Given the description of an element on the screen output the (x, y) to click on. 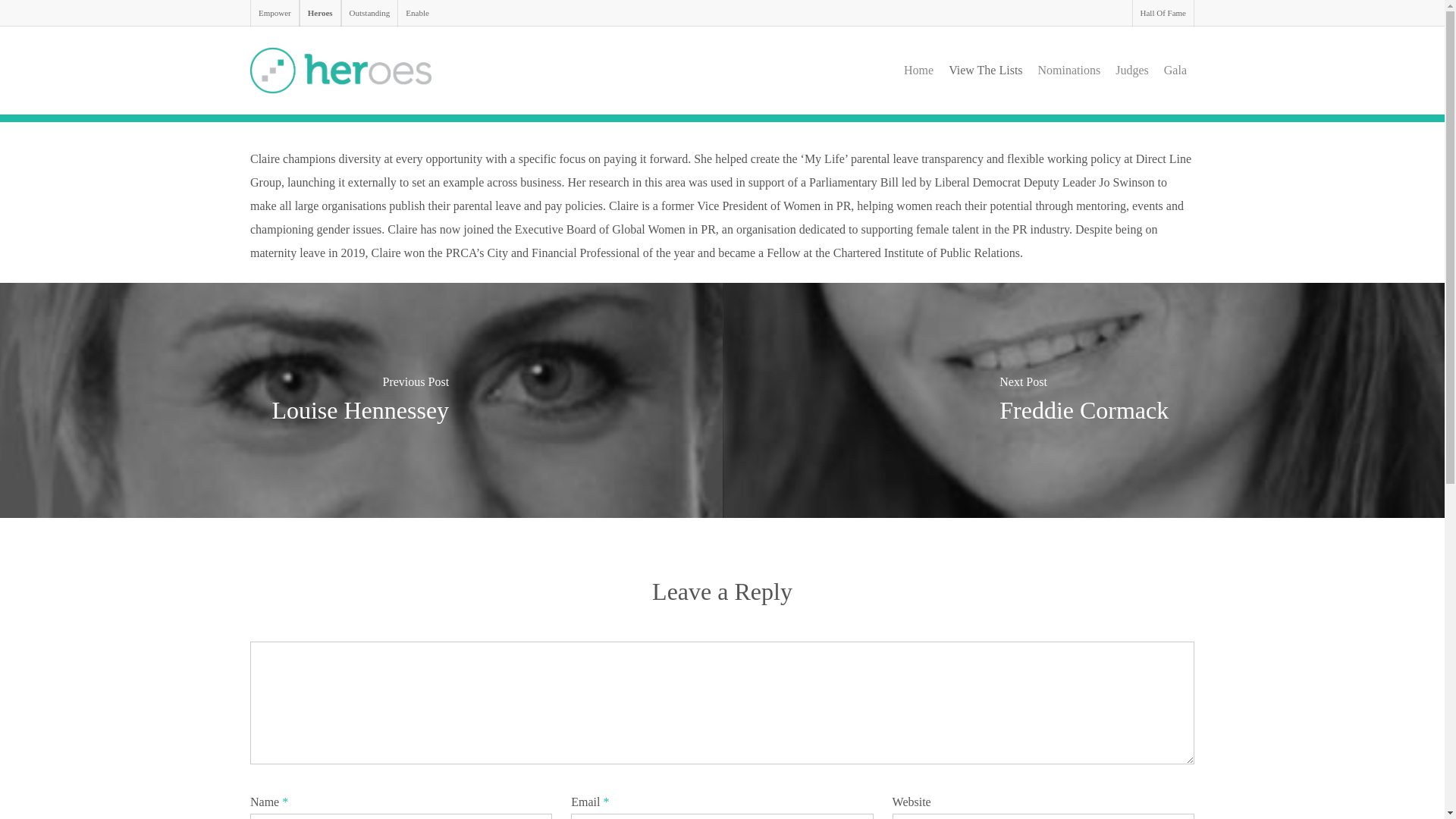
Nominations (1069, 70)
View The Lists (984, 70)
Hall Of Fame (1162, 13)
Empower (274, 13)
Heroes (319, 13)
Outstanding (368, 13)
Enable (416, 13)
